Given the description of an element on the screen output the (x, y) to click on. 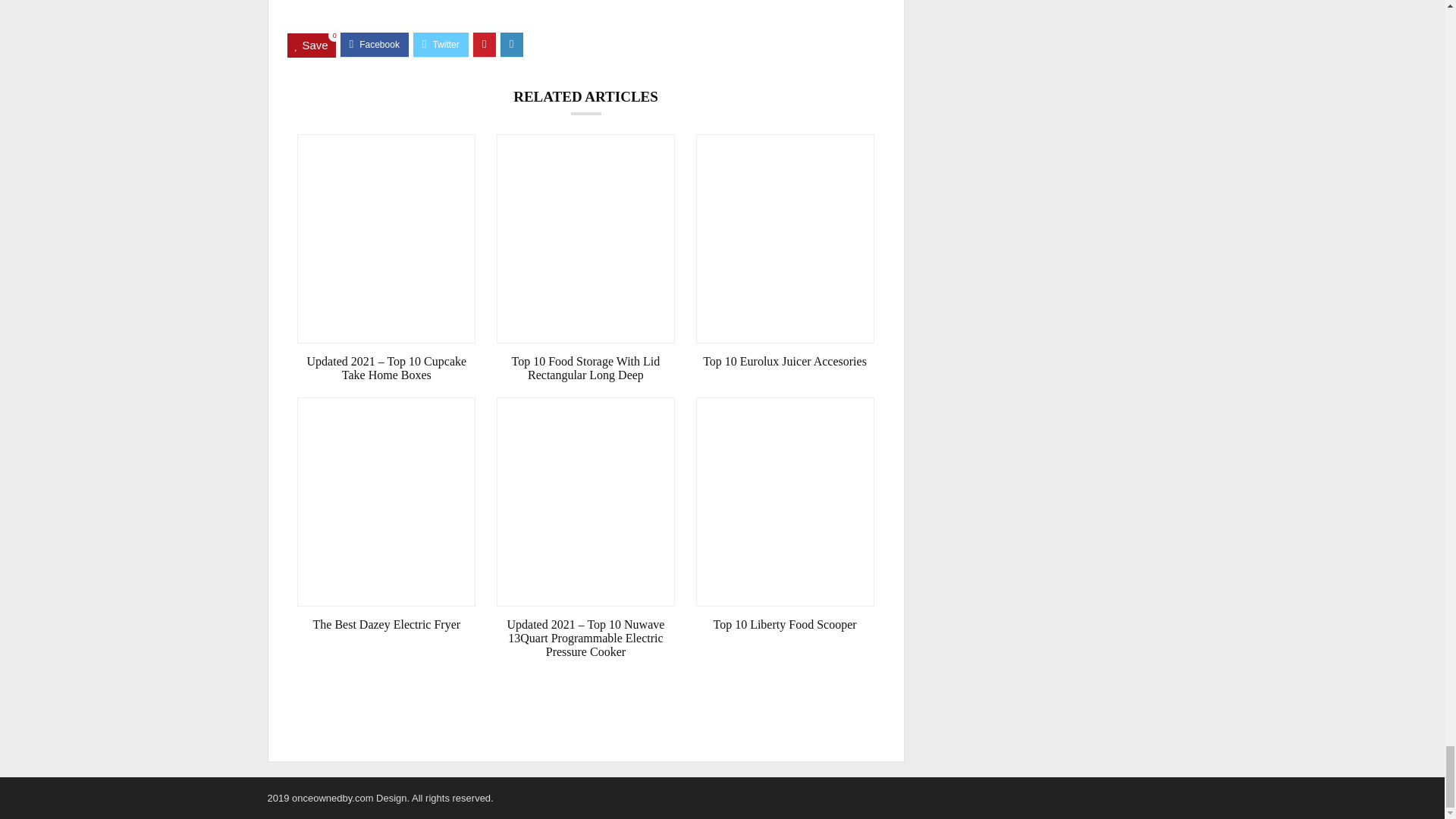
Top 10 Eurolux Juicer Accesories (785, 361)
Top 10 Liberty Food Scooper (785, 624)
The Best Dazey Electric Fryer (386, 624)
Top 10 Food Storage With Lid Rectangular Long Deep (585, 368)
